Given the description of an element on the screen output the (x, y) to click on. 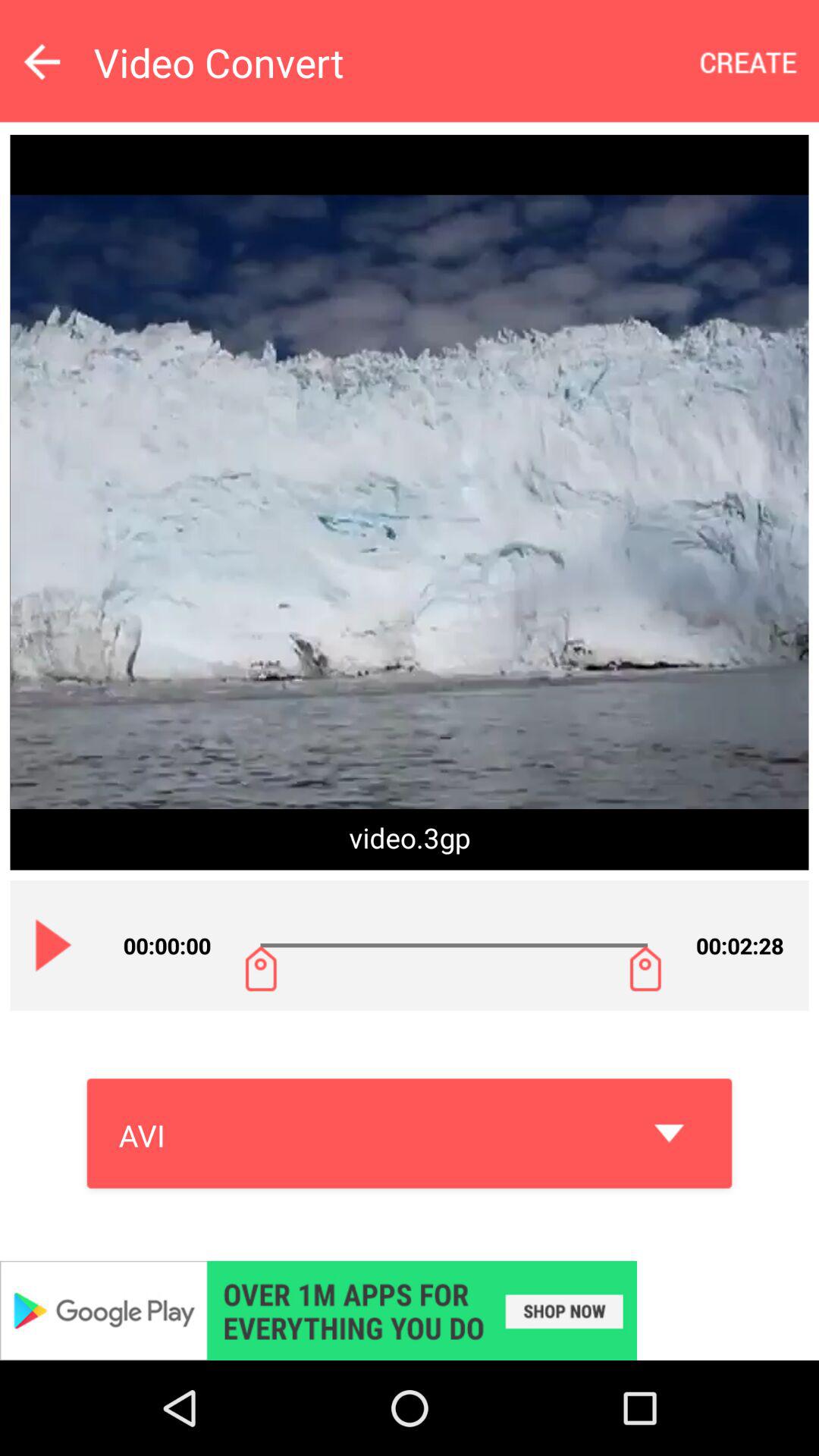
go to pause (54, 945)
